Given the description of an element on the screen output the (x, y) to click on. 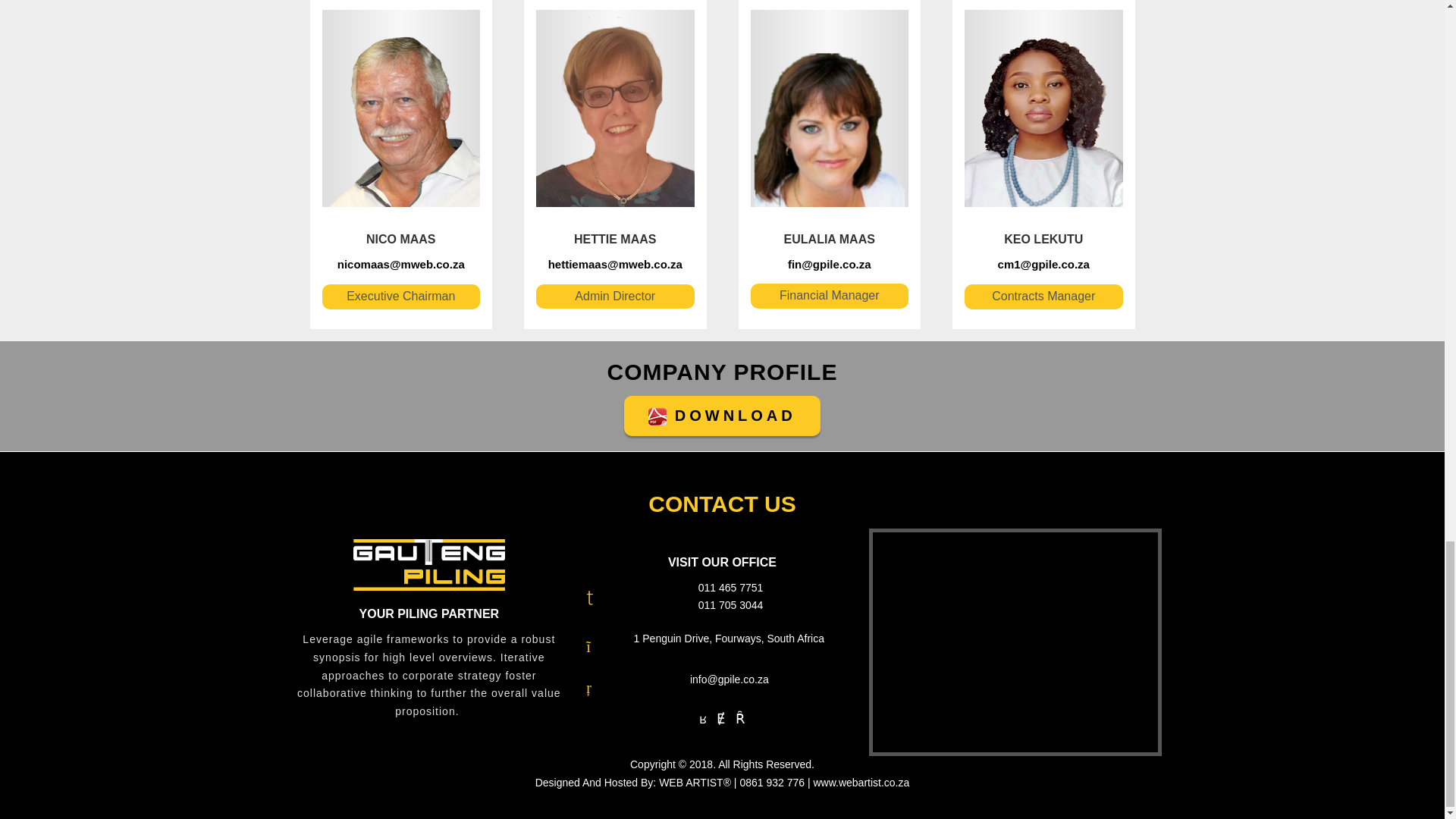
1 Penguin Drive, Fourways, South Africa (728, 638)
www.webartist.co.za (860, 782)
0861 932 776 (772, 782)
011 705 3044 (730, 604)
011 465 7751 (730, 587)
DOWNLOAD (722, 415)
